Given the description of an element on the screen output the (x, y) to click on. 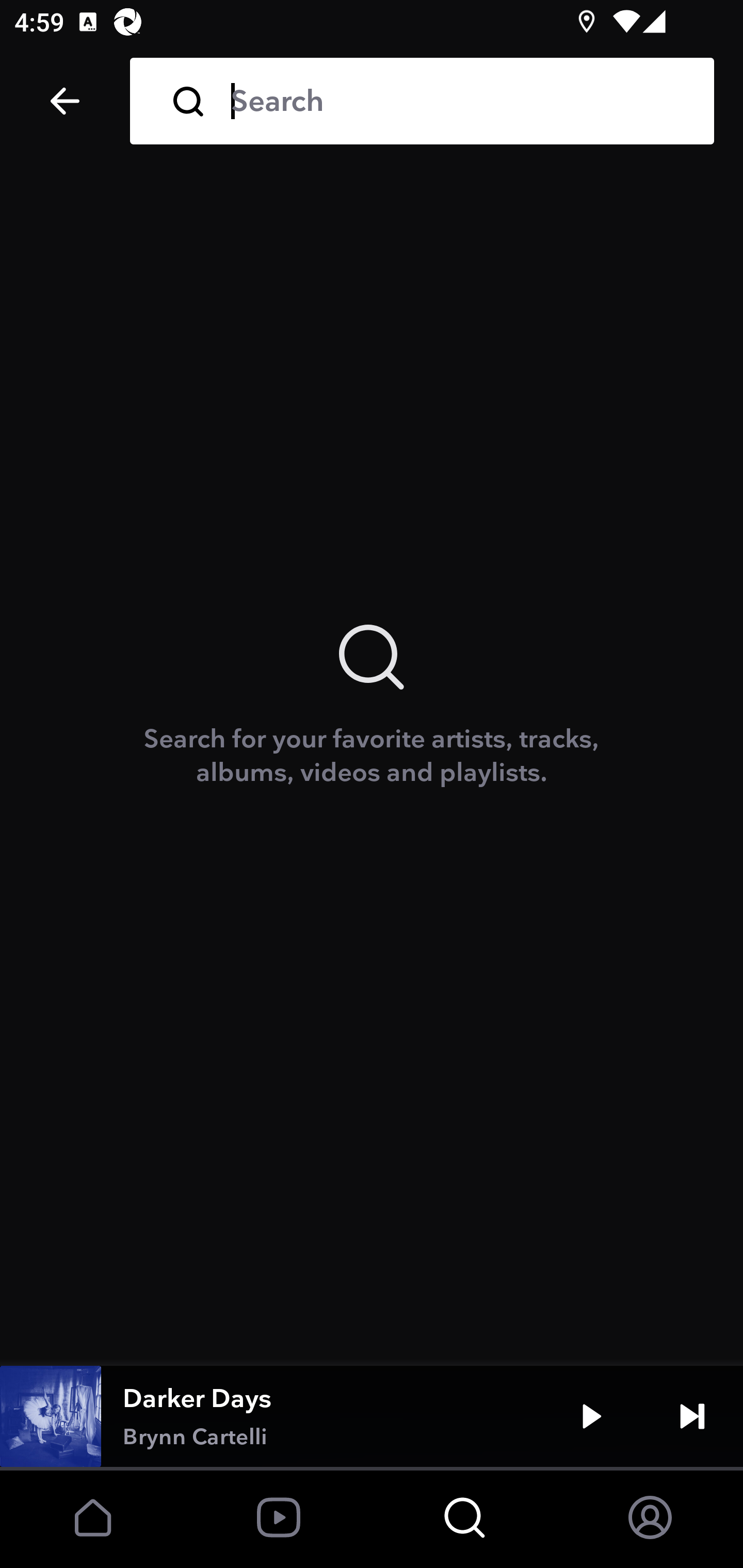
Search (457, 100)
Darker Days Brynn Cartelli Play (371, 1416)
Play (590, 1416)
